Given the description of an element on the screen output the (x, y) to click on. 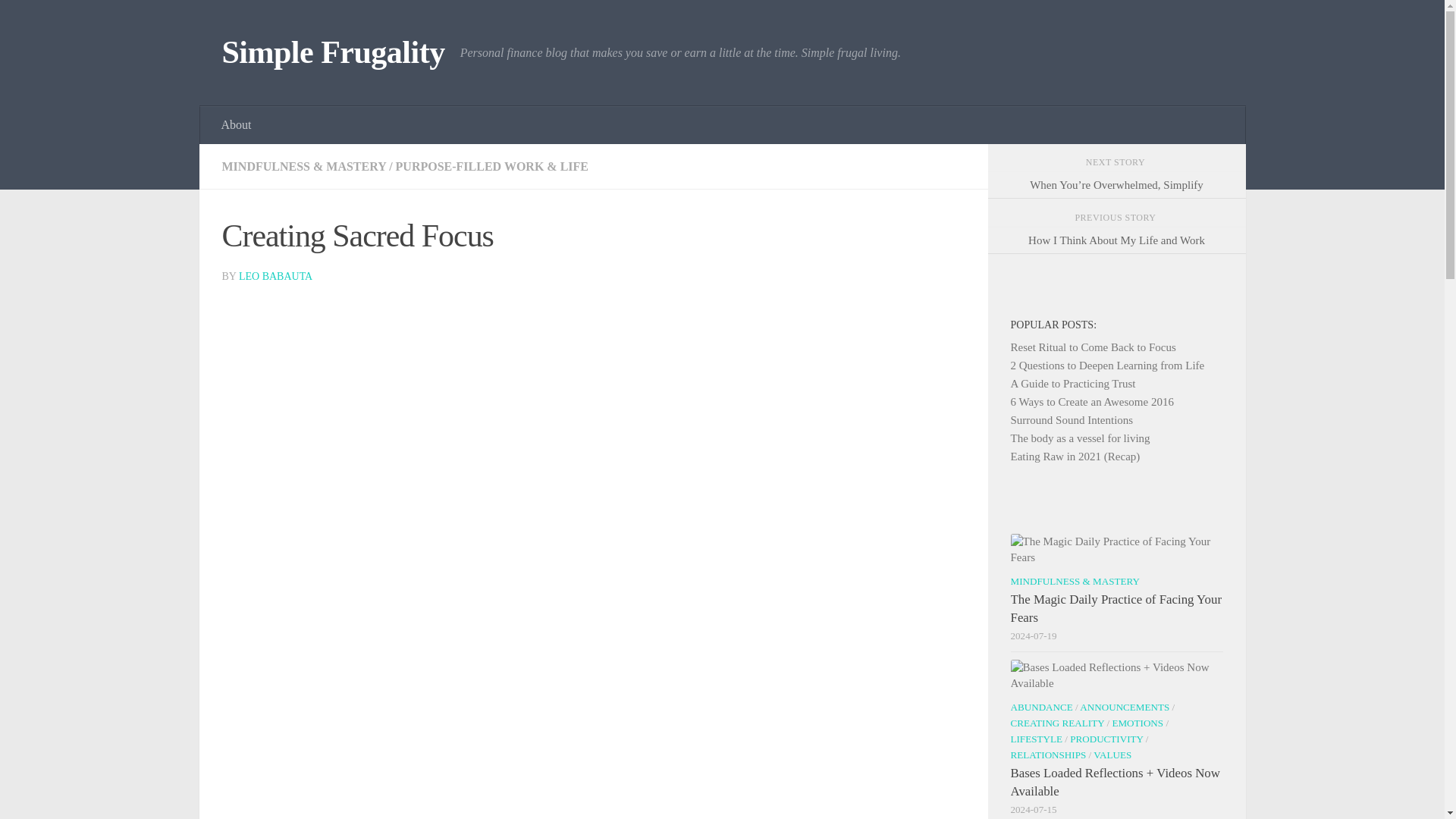
CREATING REALITY (1056, 722)
EMOTIONS (1137, 722)
Surround Sound Intentions (1071, 419)
Posts by Leo Babauta (275, 276)
About (236, 125)
A Guide to Practicing Trust (1072, 383)
PRODUCTIVITY (1106, 738)
2 Questions to Deepen Learning from Life (1107, 365)
Skip to content (59, 20)
ABUNDANCE (1040, 706)
LIFESTYLE (1035, 738)
RELATIONSHIPS (1048, 754)
Simple Frugality (332, 53)
ANNOUNCEMENTS (1124, 706)
6 Ways to Create an Awesome 2016 (1091, 401)
